Given the description of an element on the screen output the (x, y) to click on. 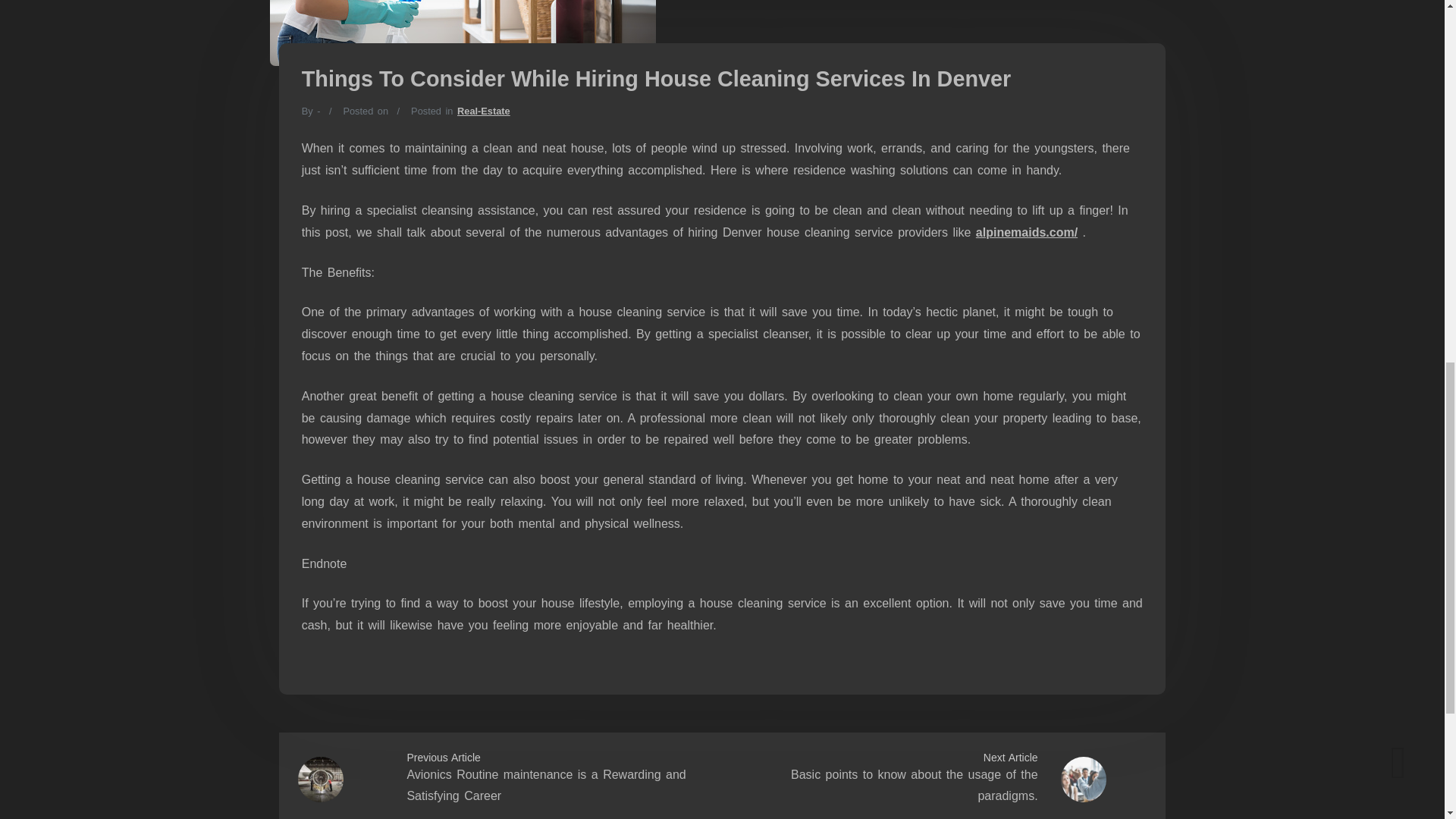
Real-Estate (484, 111)
Basic points to know about the usage of the paradigms. (914, 785)
